Given the description of an element on the screen output the (x, y) to click on. 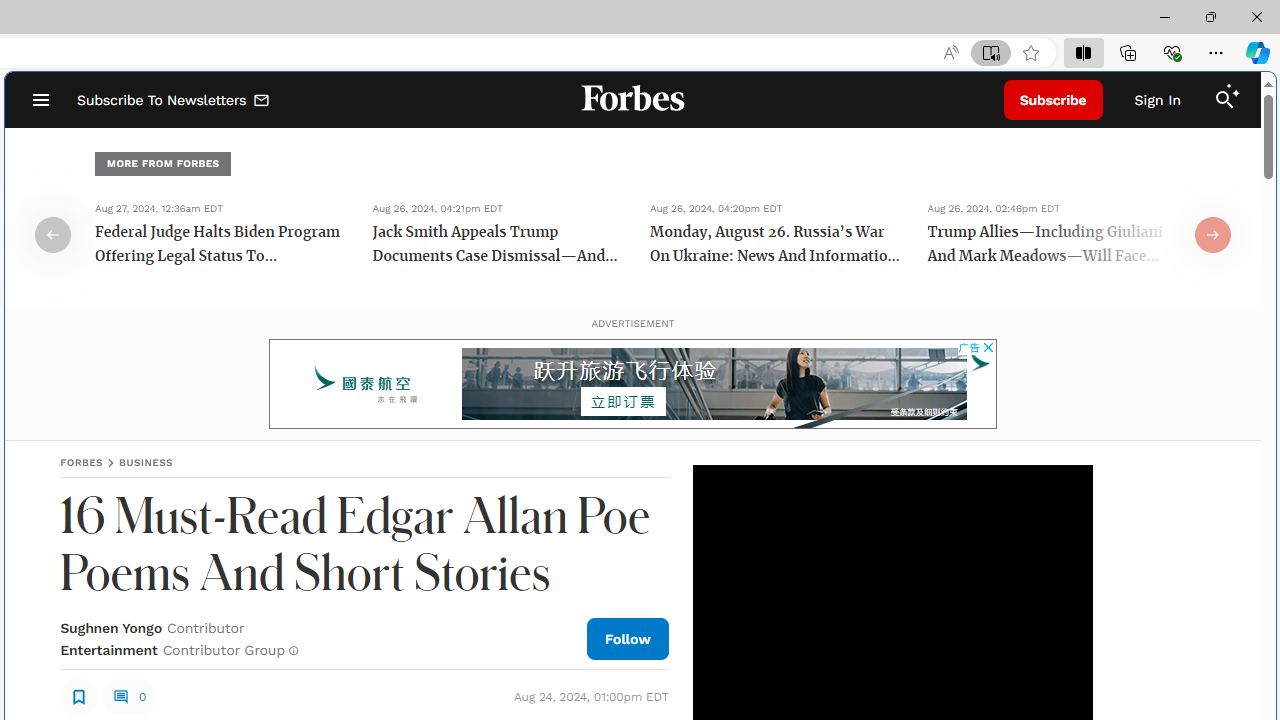
Class: search_svg__fs-icon search_svg__fs-icon--search (1224, 99)
Subscribe (1053, 99)
FORBES (81, 462)
Subscribe To Newsletters (173, 99)
BUSINESS (145, 462)
Forbes Logo (632, 99)
Arrow Right (1213, 234)
Class: fs-icon fs-icon--comment (120, 696)
